Given the description of an element on the screen output the (x, y) to click on. 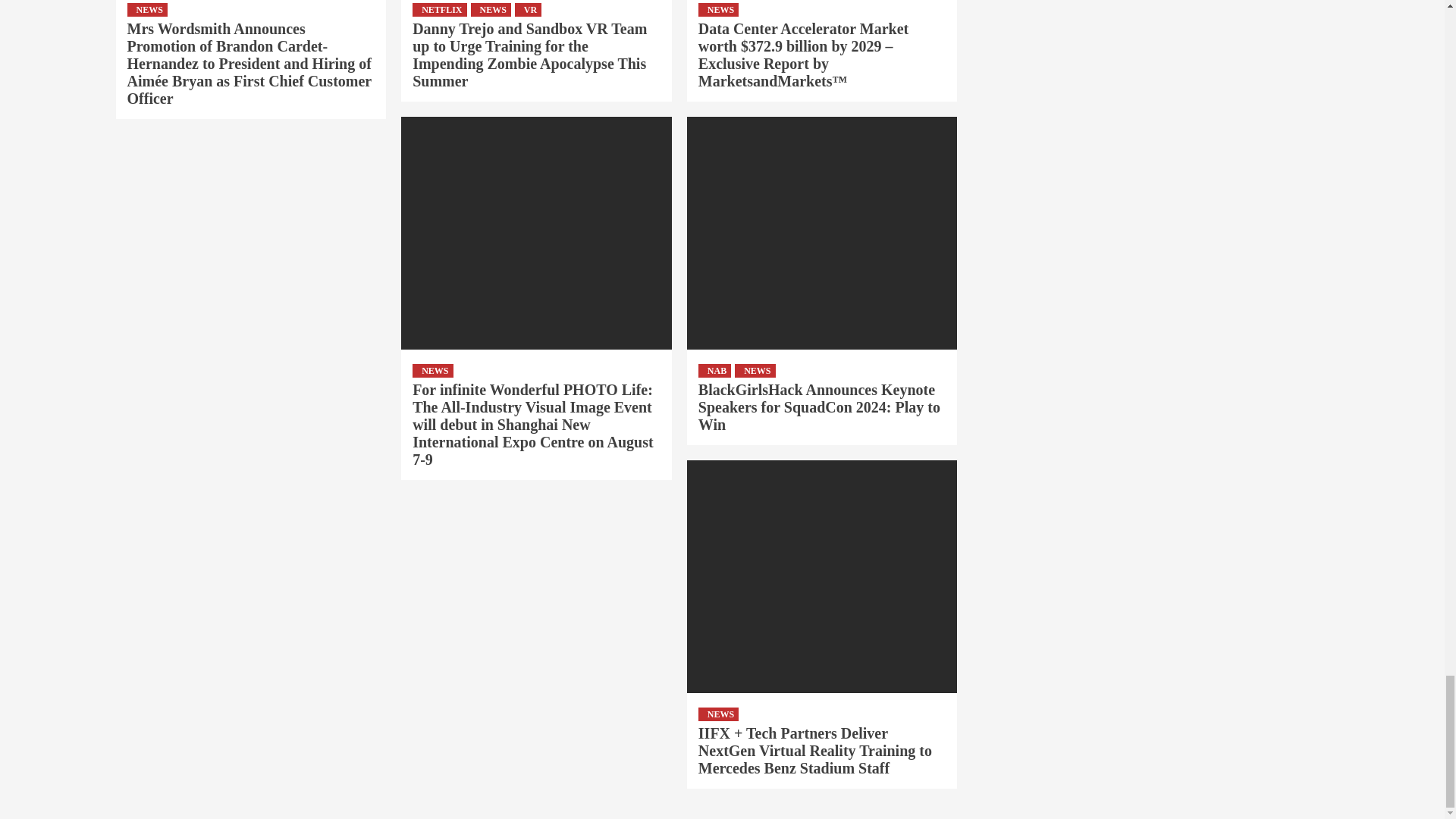
NEWS (147, 9)
